Given the description of an element on the screen output the (x, y) to click on. 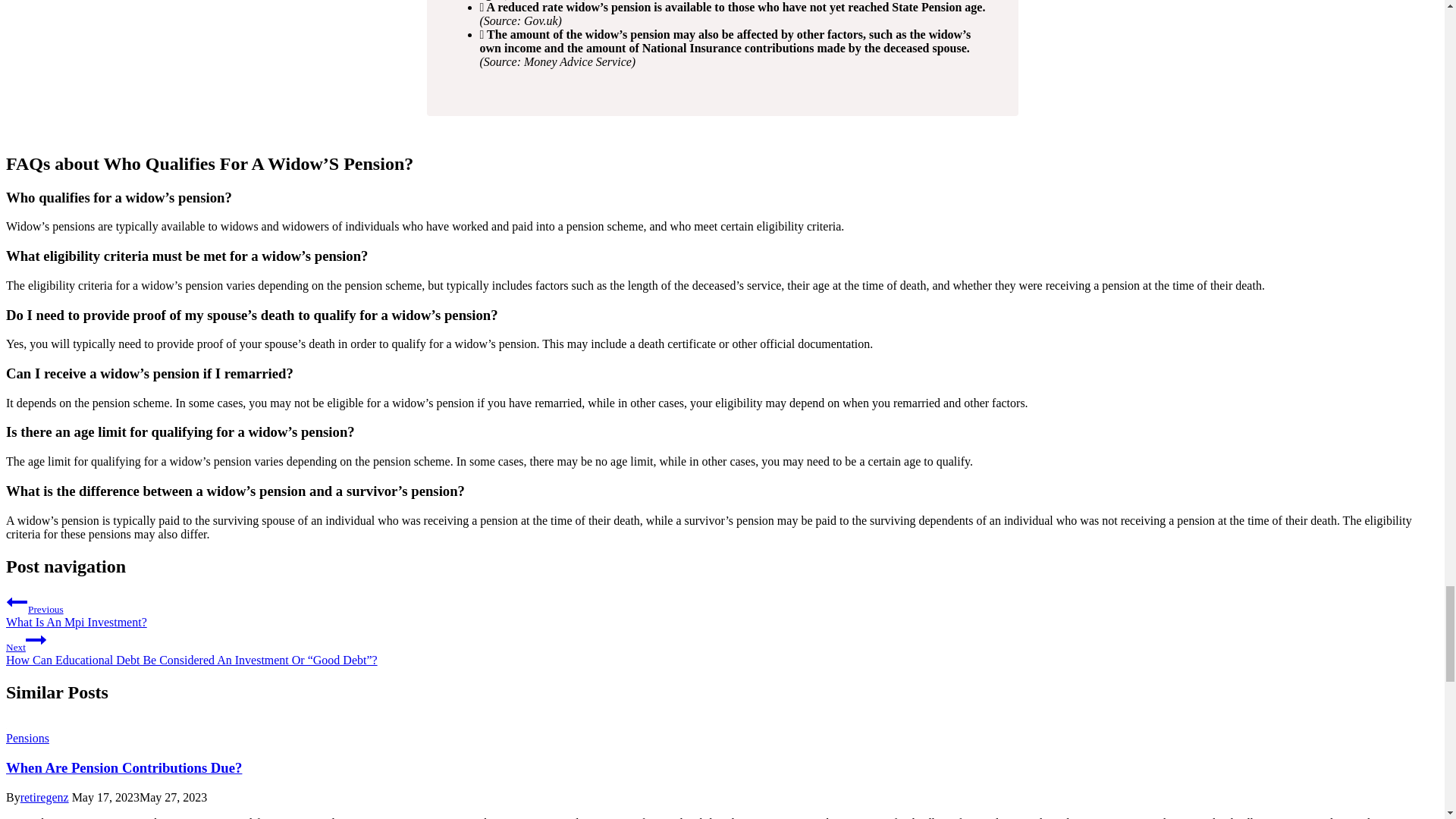
When Are Pension Contributions Due? (123, 767)
retiregenz (44, 797)
Continue (36, 639)
Previous (16, 601)
Pensions (27, 738)
